Given the description of an element on the screen output the (x, y) to click on. 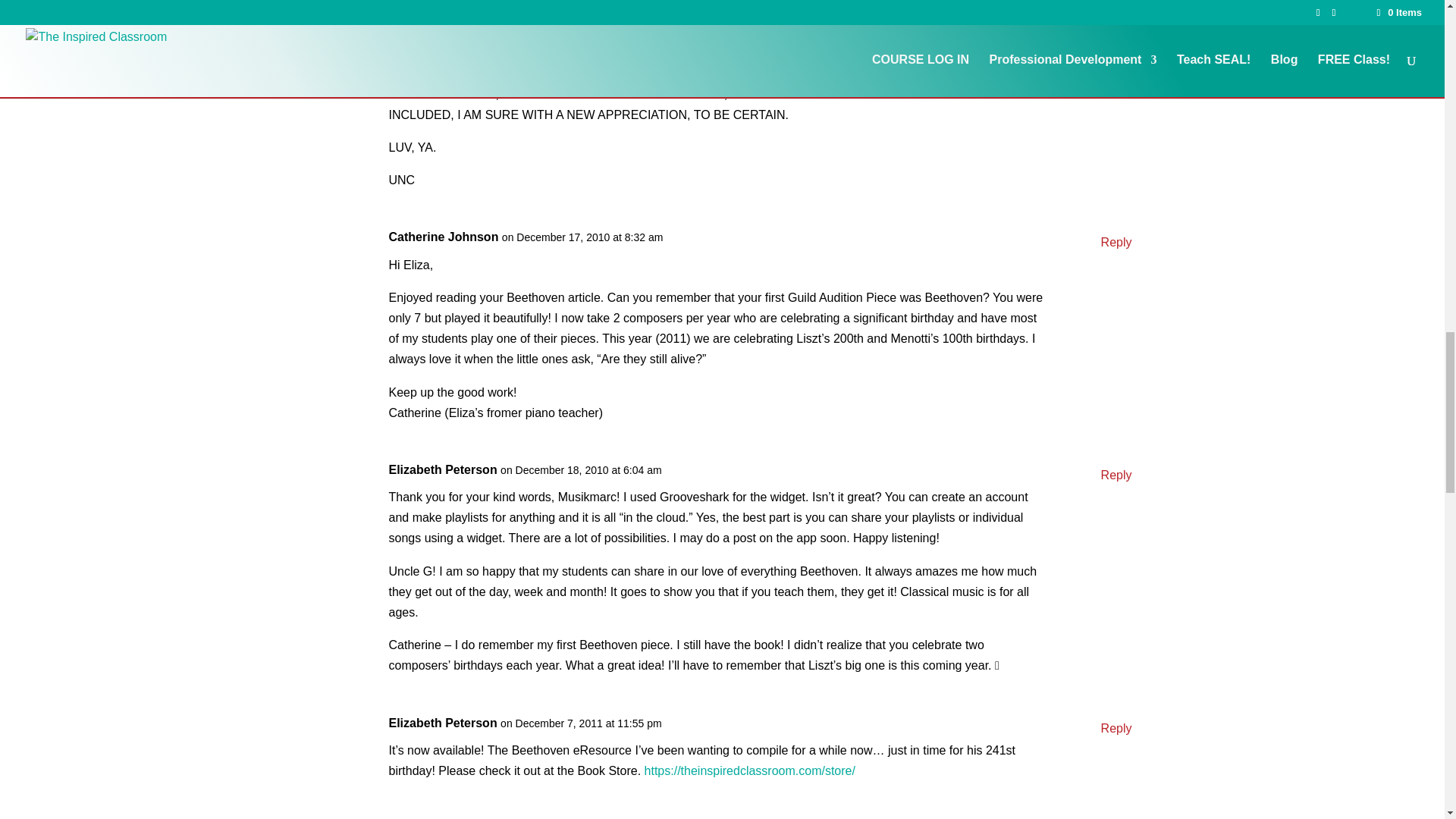
Reply (1116, 728)
Reply (1116, 241)
Reply (1116, 71)
Reply (1116, 475)
Elizabeth Peterson (442, 722)
Elizabeth Peterson (442, 469)
